Given the description of an element on the screen output the (x, y) to click on. 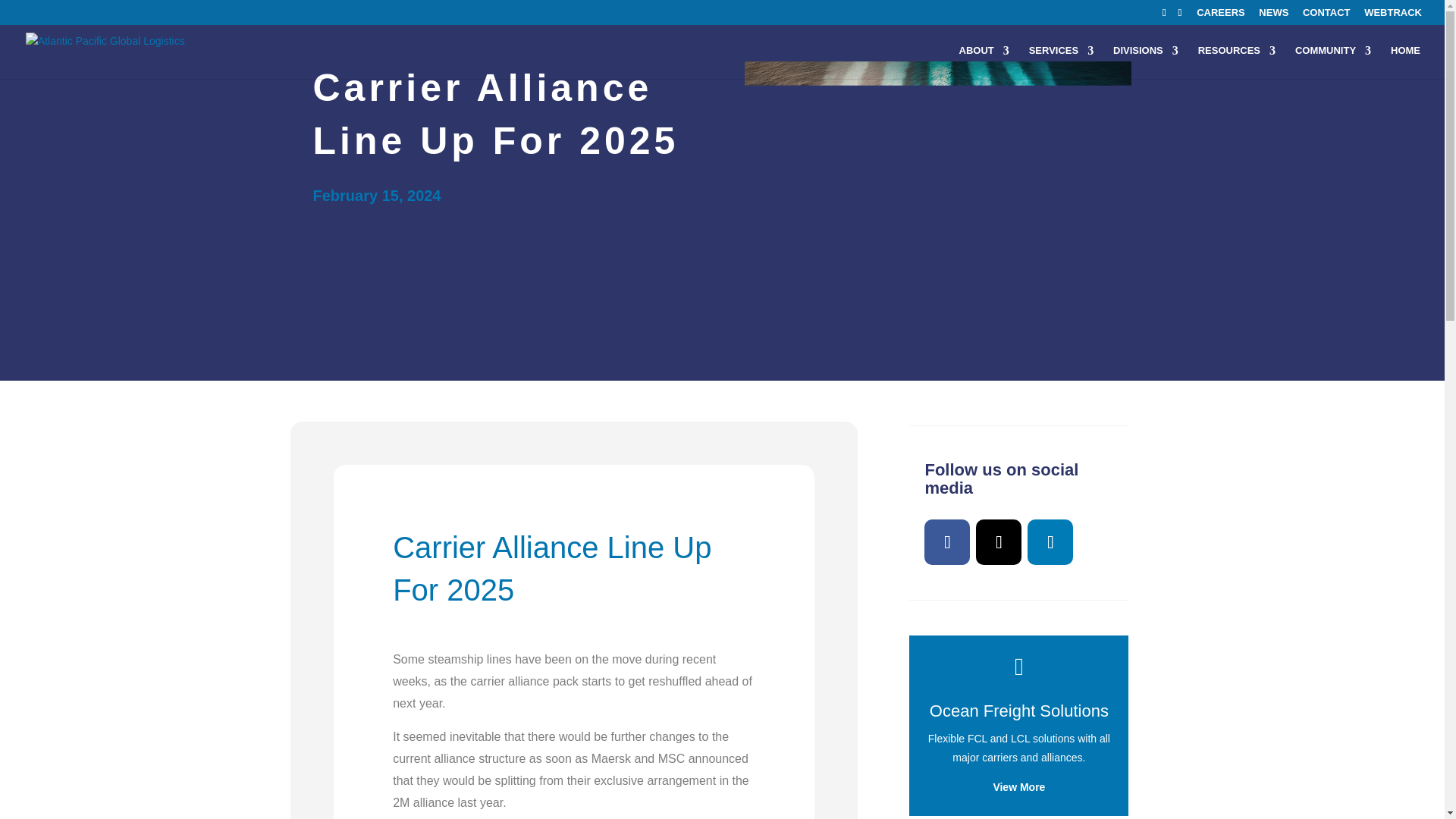
Follow on LinkedIn (360, 778)
ABOUT (984, 61)
Follow on Facebook (287, 778)
Follow on X (323, 778)
DIVISIONS (1145, 61)
SERVICES (1061, 61)
Follow on LinkedIn (1050, 542)
WEBTRACK (1393, 16)
Follow on X (998, 542)
CAREERS (1220, 16)
